Given the description of an element on the screen output the (x, y) to click on. 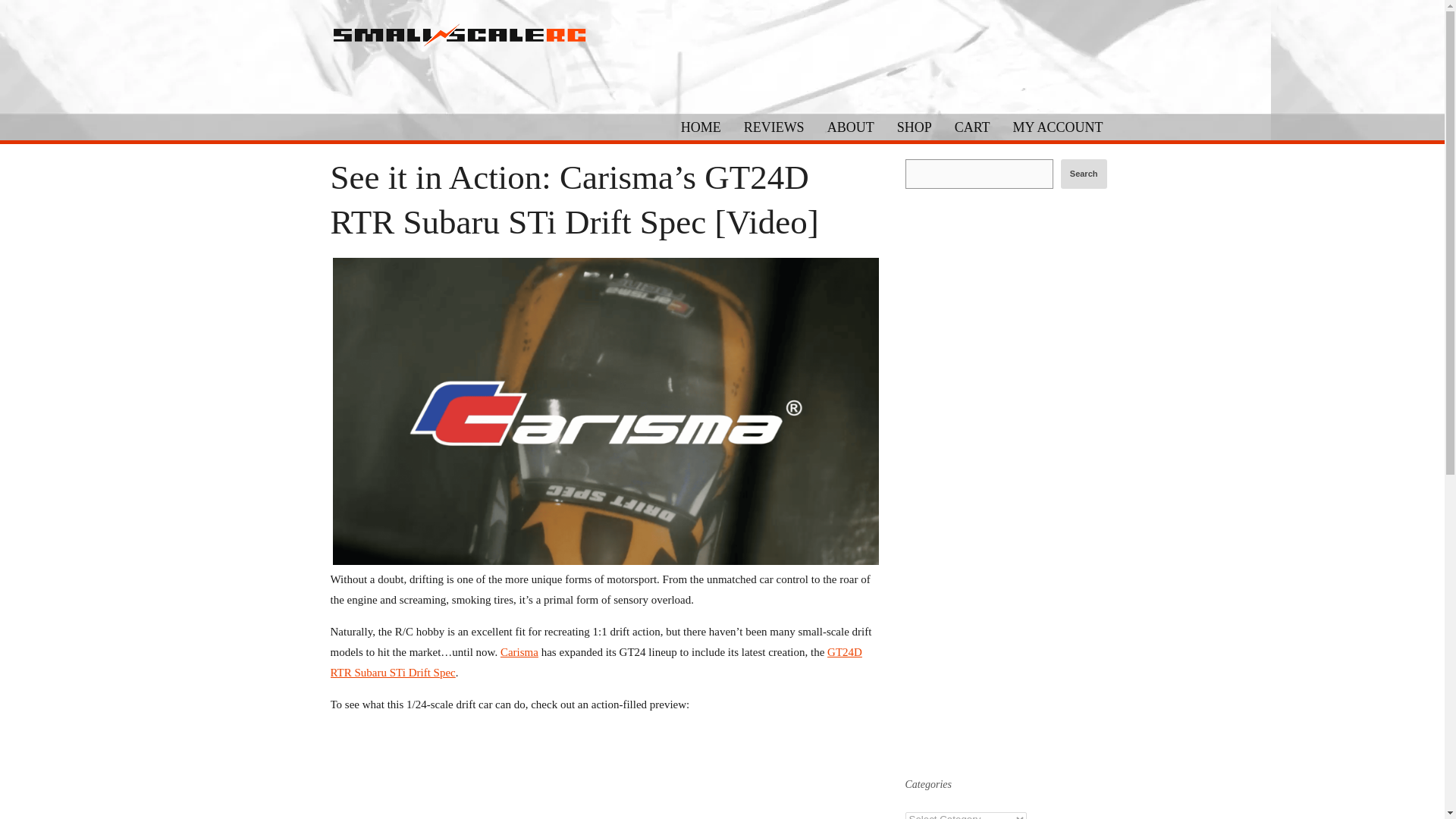
Search (1083, 173)
Carisma (519, 652)
ABOUT (850, 125)
HOME (700, 125)
GT24D RTR Subaru STi Drift Spec (595, 662)
CART (972, 125)
MY ACCOUNT (1058, 125)
SHOP (914, 125)
REVIEWS (773, 125)
